Given the description of an element on the screen output the (x, y) to click on. 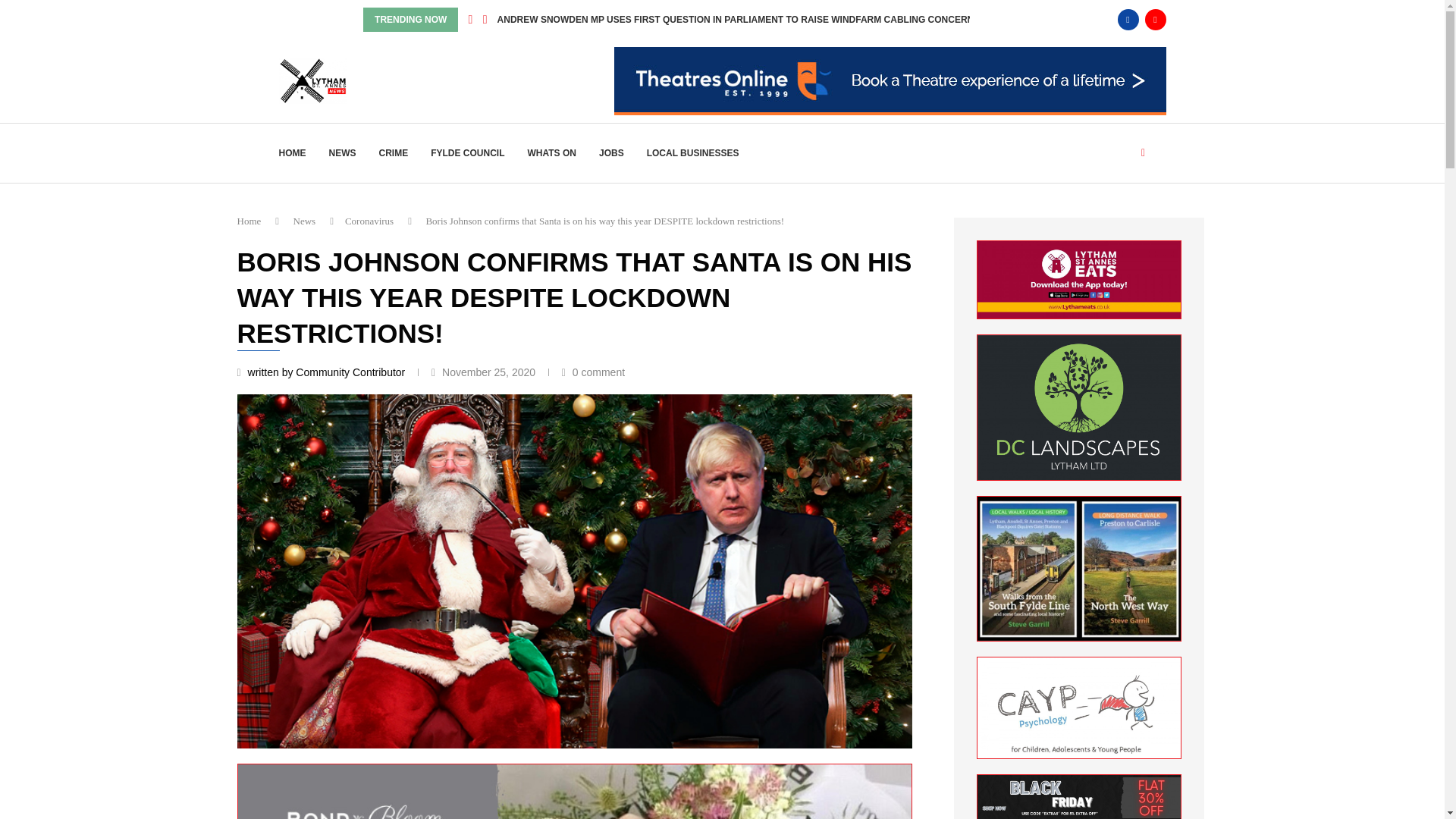
LOCAL BUSINESSES (692, 153)
FYLDE COUNCIL (466, 153)
WHATS ON (551, 153)
